Given the description of an element on the screen output the (x, y) to click on. 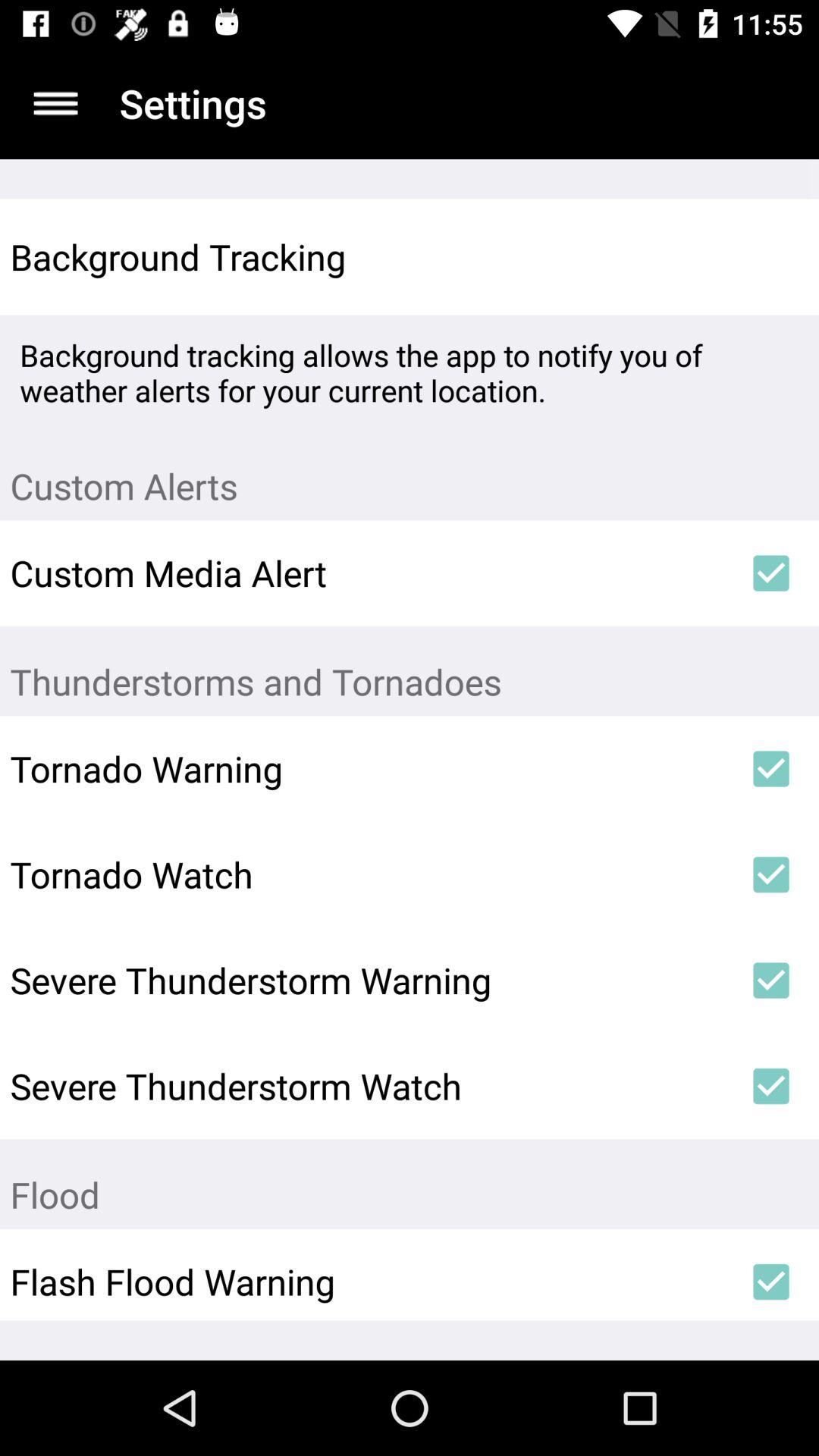
go to previous (55, 103)
